Given the description of an element on the screen output the (x, y) to click on. 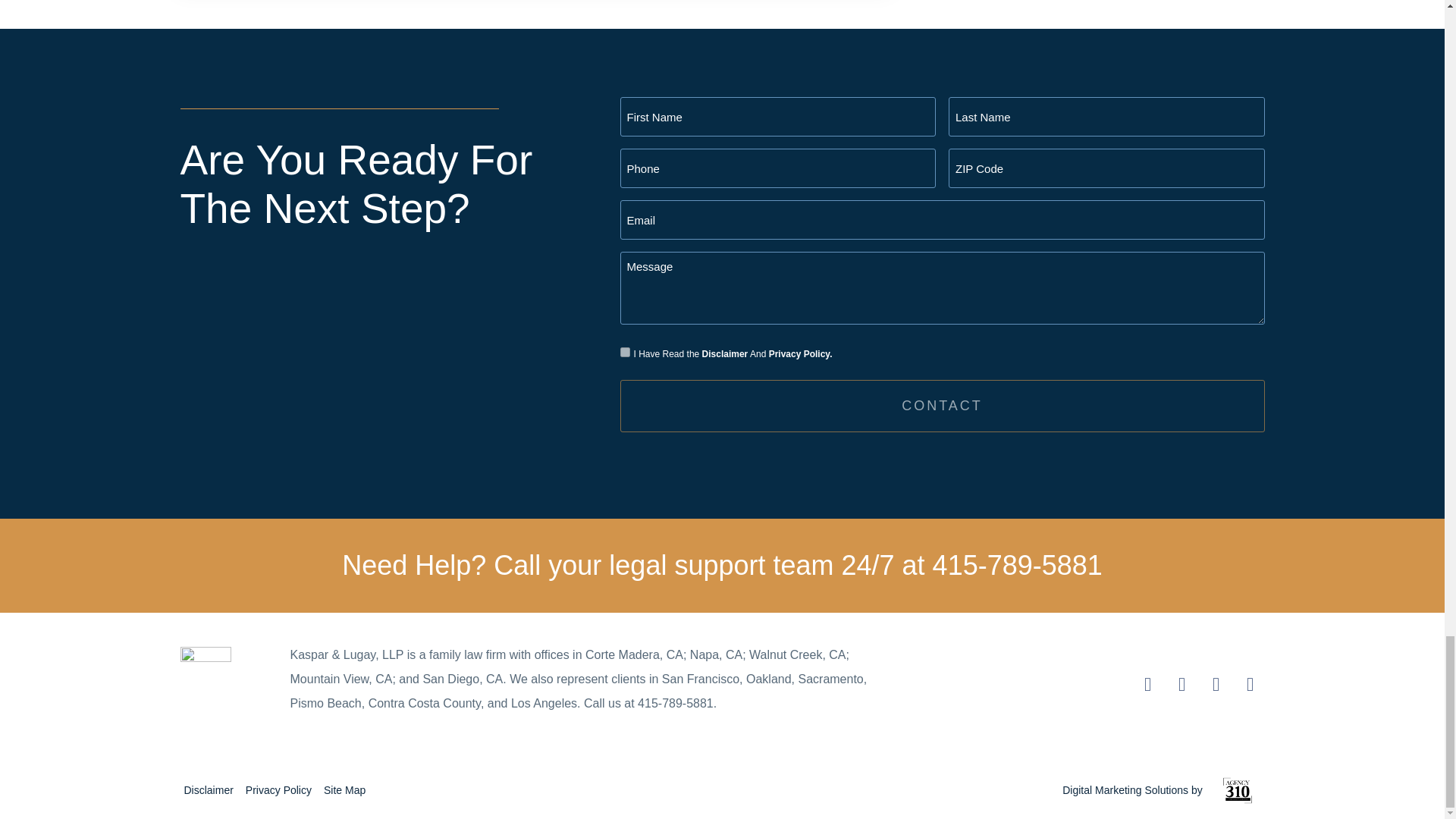
Contact (942, 406)
1 (625, 352)
